Given the description of an element on the screen output the (x, y) to click on. 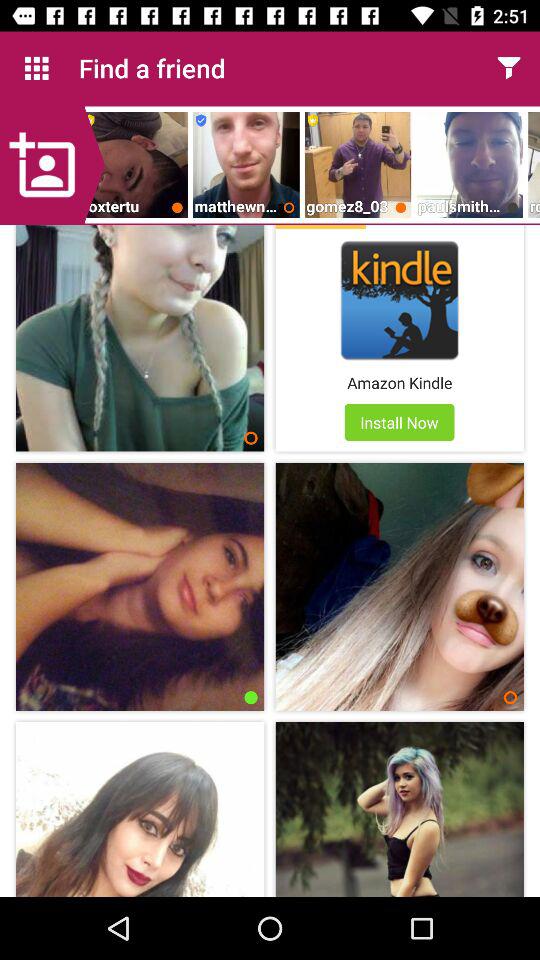
open the menu (508, 67)
